Given the description of an element on the screen output the (x, y) to click on. 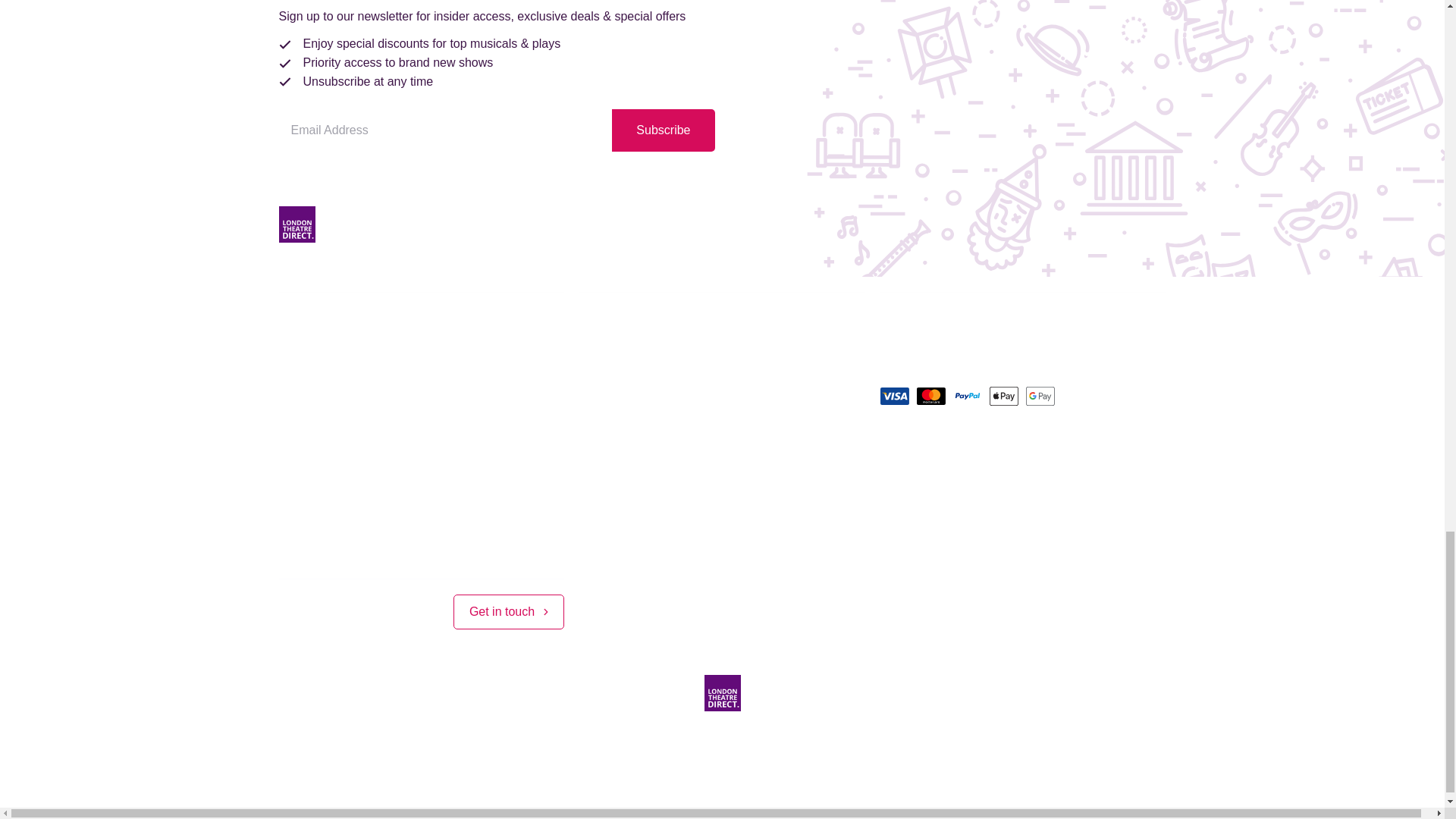
Trafalgar Releasing (804, 742)
Trafalgar Entertainment (533, 742)
Trafalgar Theatre (927, 742)
Stagecoach Theatre (674, 742)
